Given the description of an element on the screen output the (x, y) to click on. 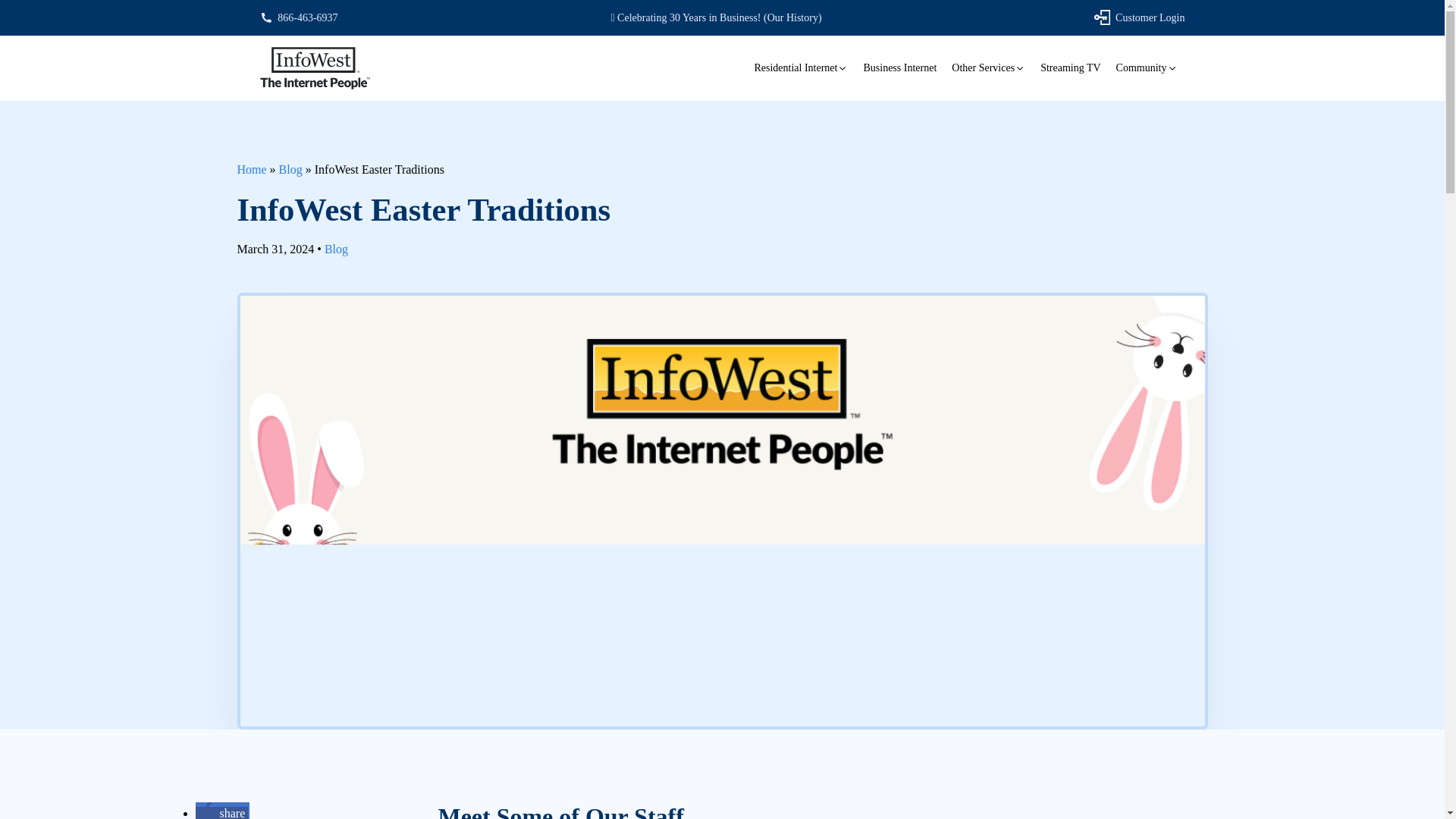
Other Services (987, 67)
866-463-6937 (298, 17)
Home (250, 169)
Blog (290, 169)
Share on Facebook (221, 812)
Home (250, 169)
Business Internet (899, 67)
Residential Internet (800, 67)
InfoWest - The Internet People (314, 67)
Community (1146, 67)
share  (221, 812)
Streaming TV (1070, 67)
Blog (290, 169)
Customer Login (1139, 17)
Blog (335, 248)
